Given the description of an element on the screen output the (x, y) to click on. 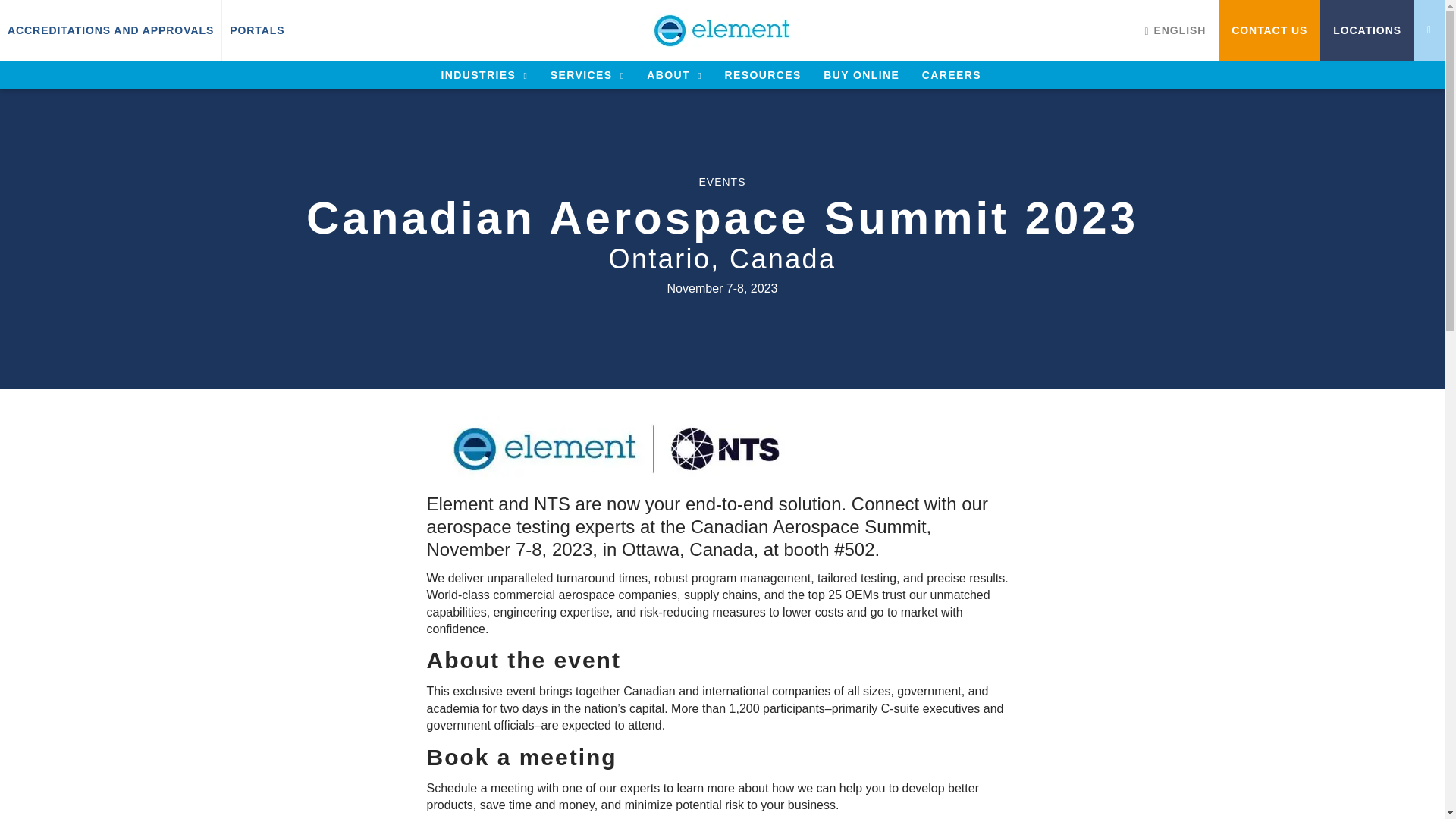
RESOURCES (761, 74)
ENGLISH (1174, 30)
CAREERS (951, 74)
SERVICES (587, 74)
ABOUT (673, 74)
BUY ONLINE (861, 74)
Element (722, 29)
INDUSTRIES (484, 74)
ACCREDITATIONS AND APPROVALS (110, 30)
LOCATIONS (1366, 30)
CONTACT US (1269, 30)
PORTALS (256, 30)
